Given the description of an element on the screen output the (x, y) to click on. 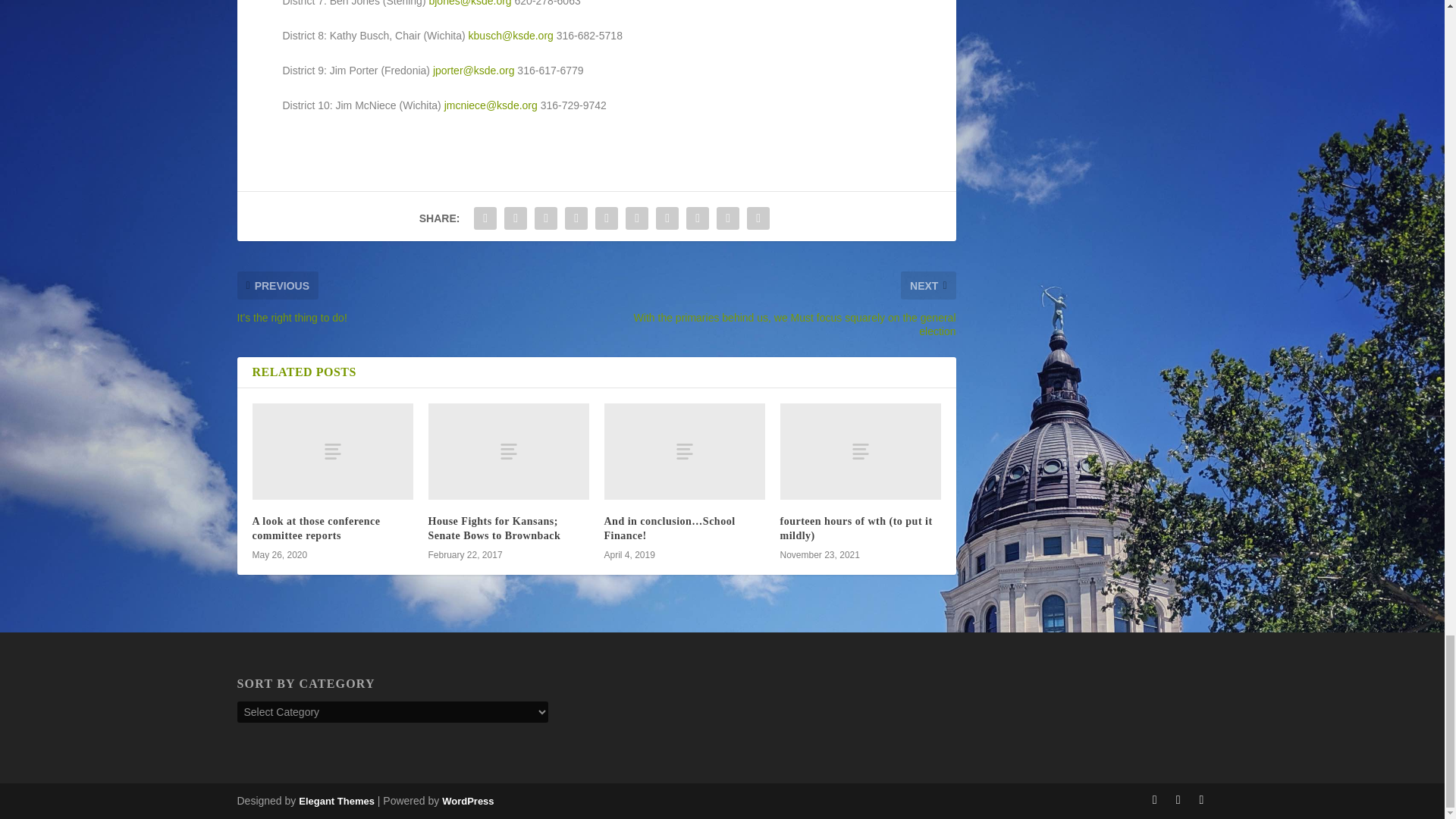
A look at those conference committee reports (331, 451)
House Fights for Kansans; Senate Bows to Brownback (508, 451)
